Given the description of an element on the screen output the (x, y) to click on. 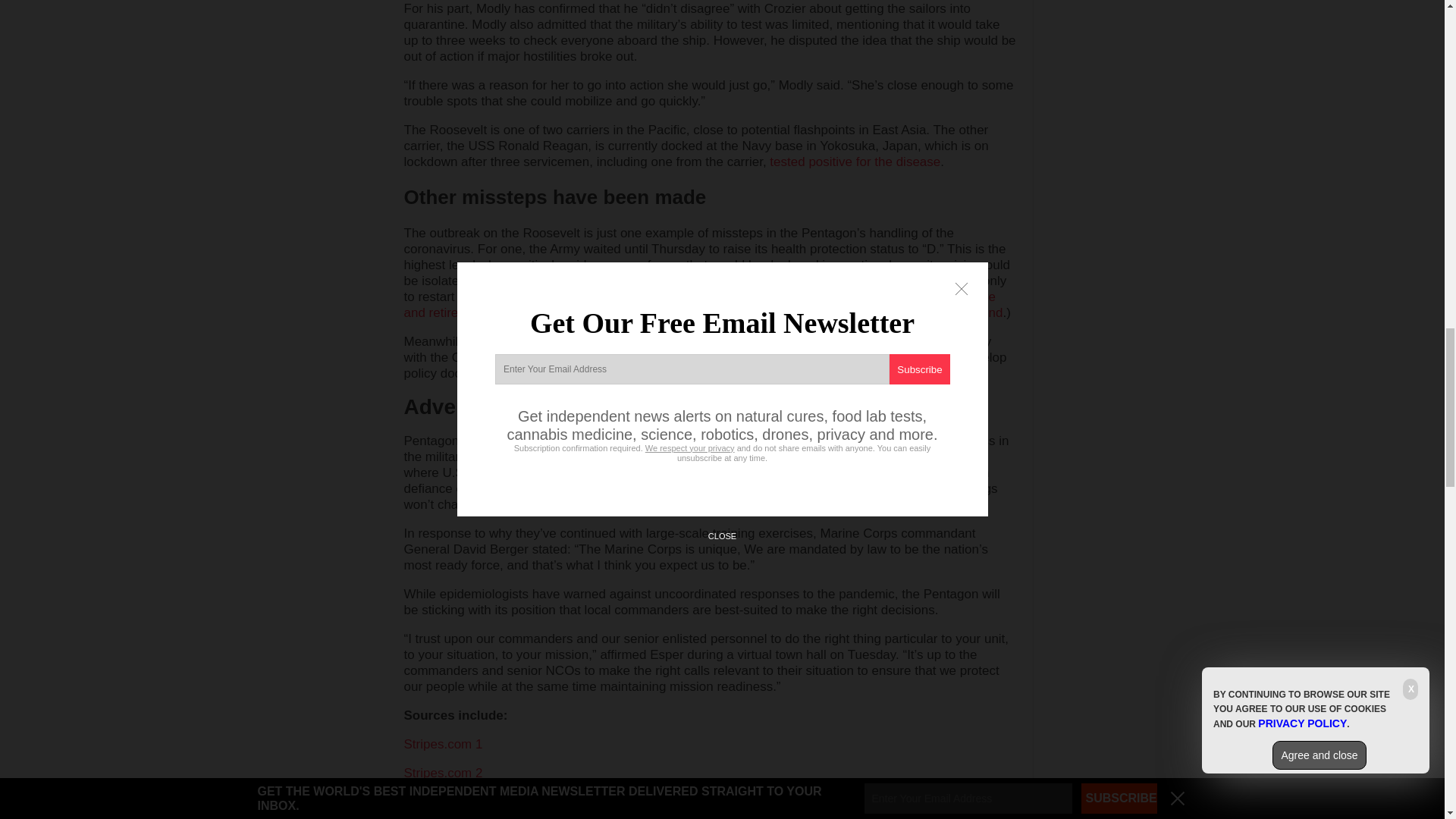
tested positive for the disease (855, 161)
